Given the description of an element on the screen output the (x, y) to click on. 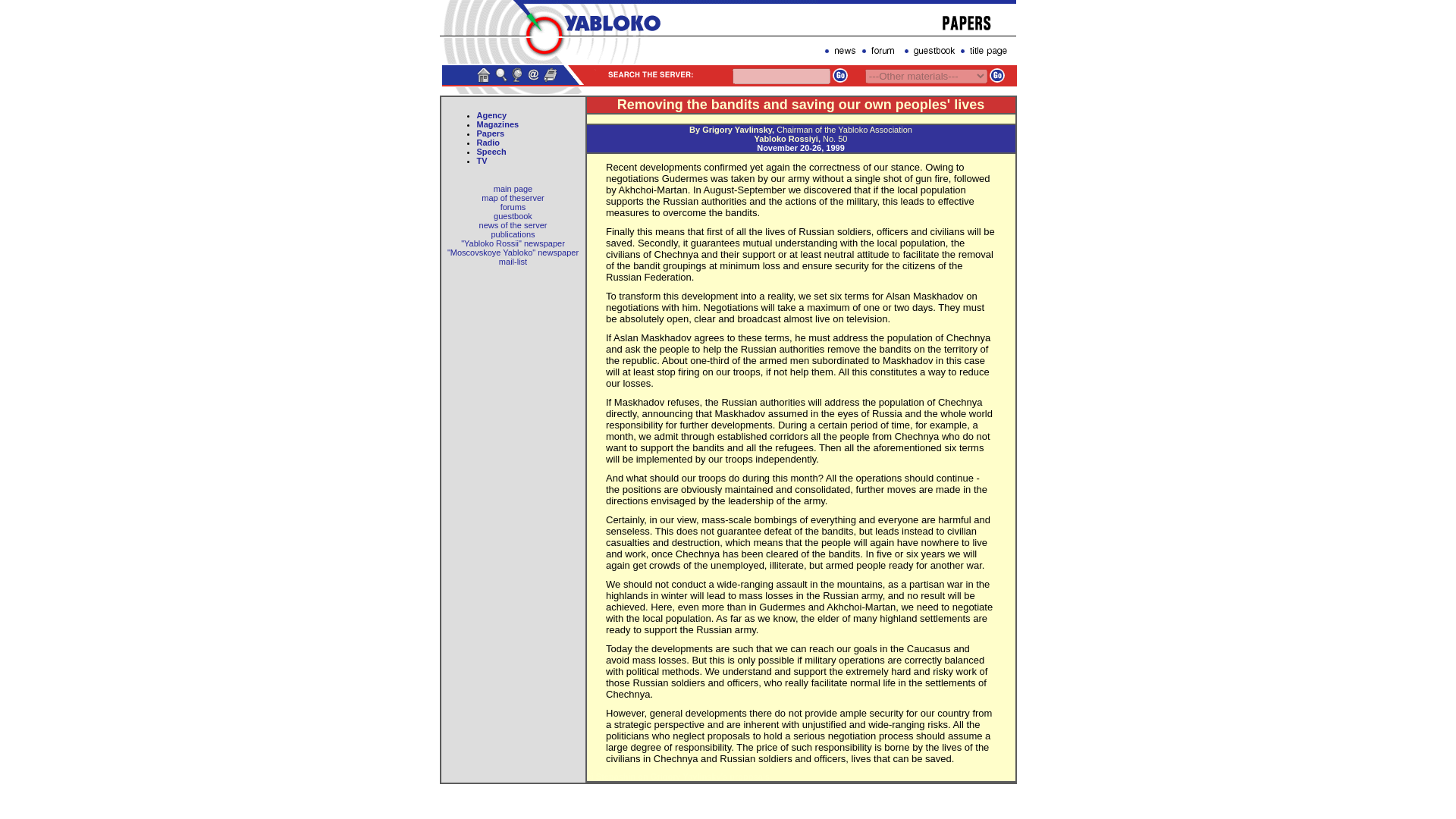
publications (512, 234)
guestbook (512, 215)
map of theserver (512, 197)
mail-list (513, 261)
Magazines (497, 123)
Radio (487, 142)
"Yabloko Rossii" newspaper (512, 243)
Agency (491, 114)
main page (512, 188)
Speech (490, 151)
news of the server (513, 225)
"Moscovskoye Yabloko" newspaper (512, 252)
TV (481, 160)
Papers (489, 133)
forums (512, 206)
